Given the description of an element on the screen output the (x, y) to click on. 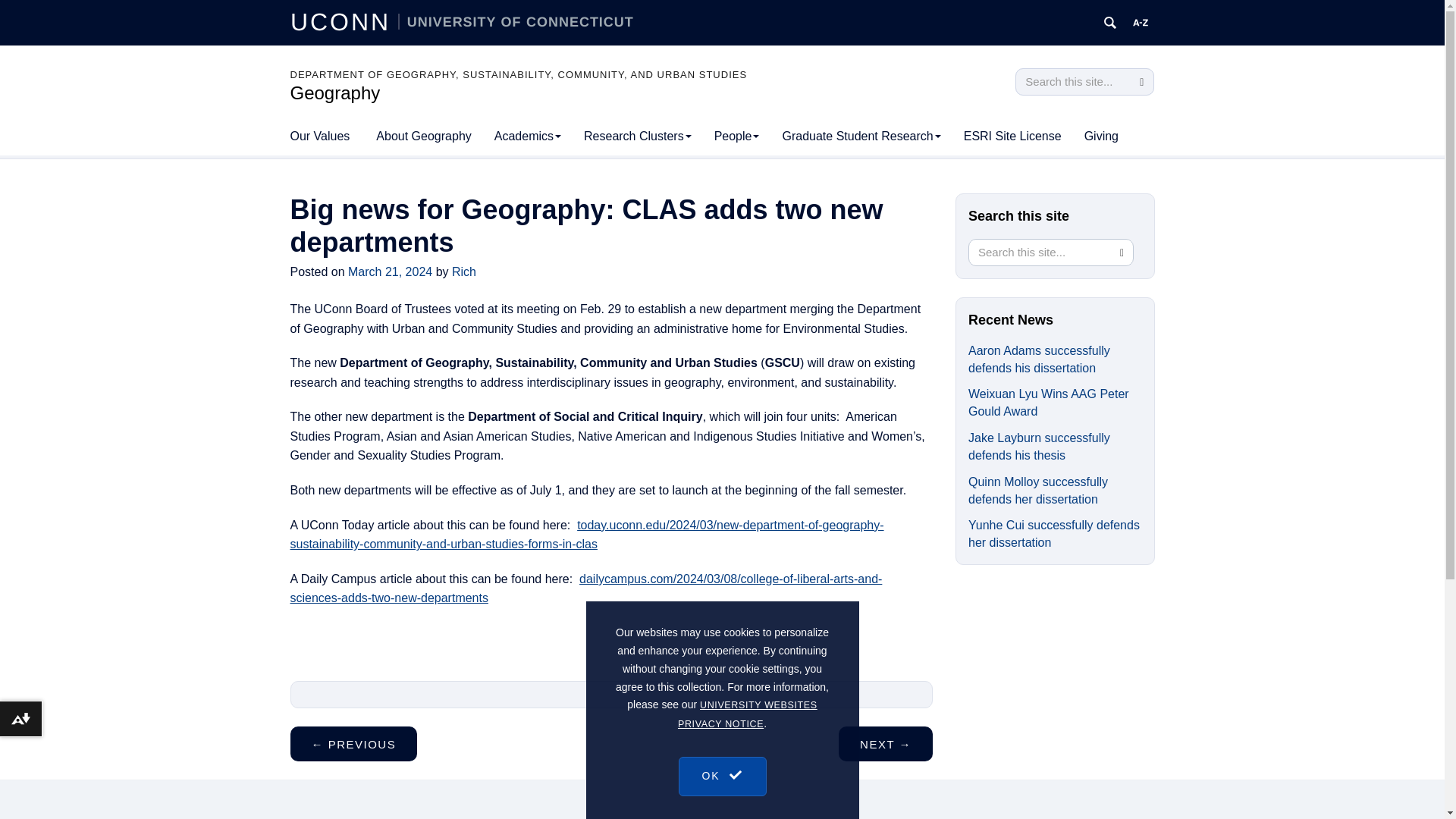
Research Clusters (637, 136)
Posts by Rich (463, 271)
Academics (527, 136)
Search this site...  (1040, 252)
Our Values (320, 136)
Search (1141, 81)
About Geography (423, 136)
UConn A to Z Index (1140, 22)
Search UConn (1109, 22)
Geography (334, 92)
UCONN (343, 21)
Search (1141, 81)
UNIVERSITY OF CONNECTICUT (515, 21)
Search this site...  (1072, 81)
